Given the description of an element on the screen output the (x, y) to click on. 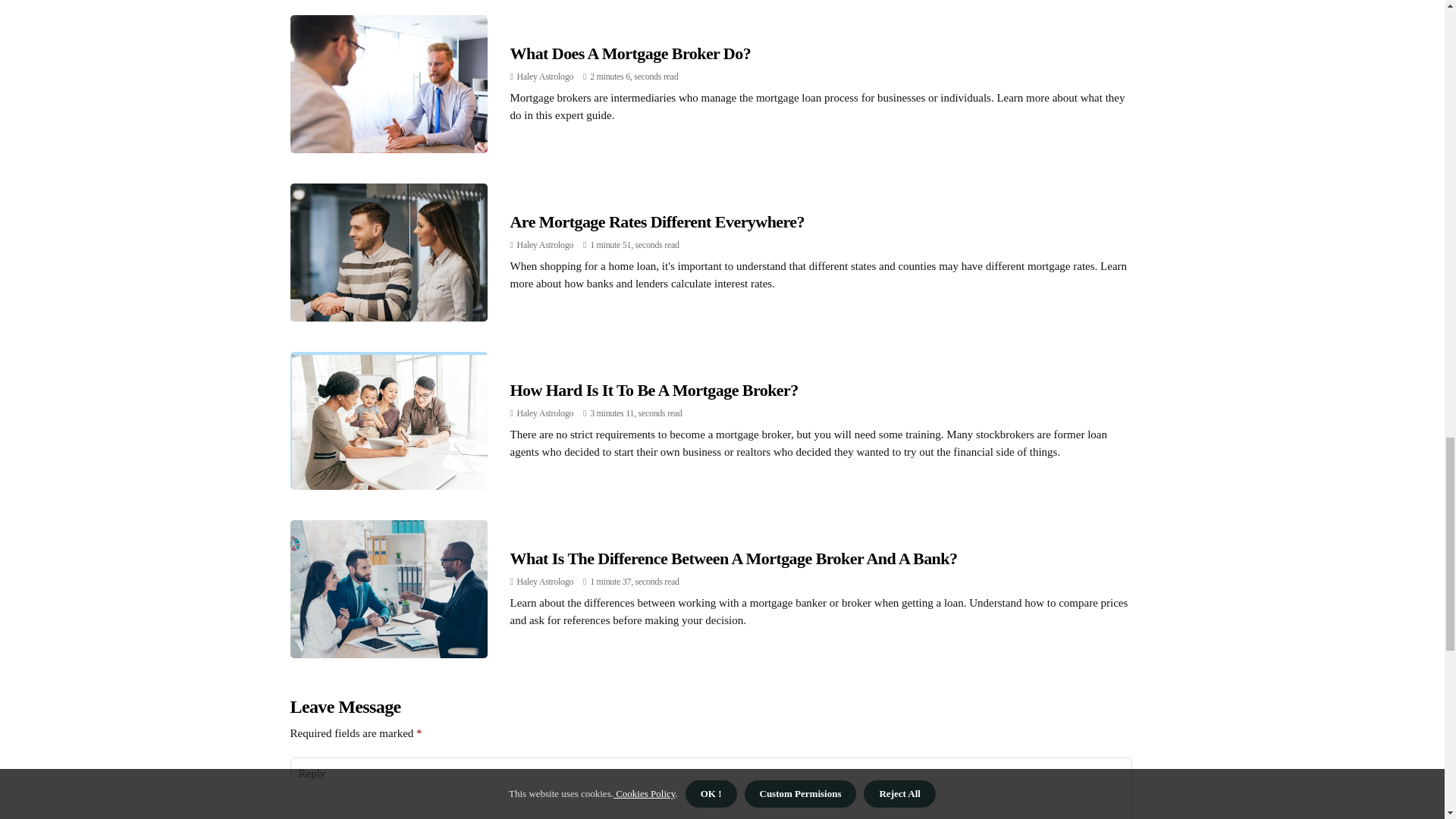
Are Mortgage Rates Different Everywhere? (657, 221)
Haley Astrologo (544, 244)
Haley Astrologo (544, 581)
What Does A Mortgage Broker Do? (630, 53)
Posts by Haley Astrologo (544, 581)
Haley Astrologo (544, 76)
Posts by Haley Astrologo (544, 244)
What Is The Difference Between A Mortgage Broker And A Bank? (732, 558)
Posts by Haley Astrologo (544, 76)
Haley Astrologo (544, 412)
